Given the description of an element on the screen output the (x, y) to click on. 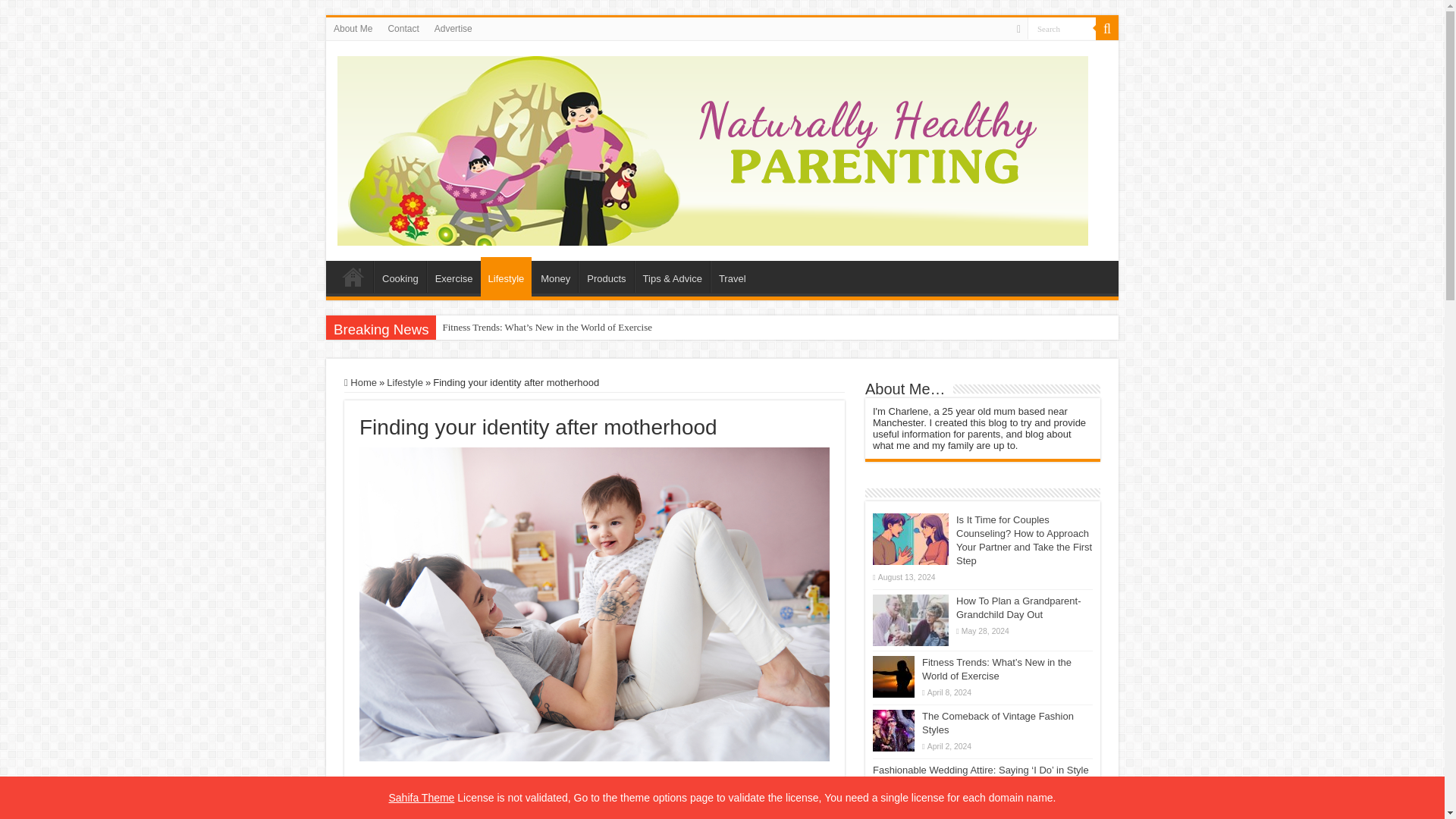
Travel (732, 276)
Exercise (453, 276)
Home (360, 382)
Search (1061, 28)
Lifestyle (506, 276)
Home (352, 276)
Advertise (453, 28)
Search (1061, 28)
Cooking (400, 276)
Products (605, 276)
